Given the description of an element on the screen output the (x, y) to click on. 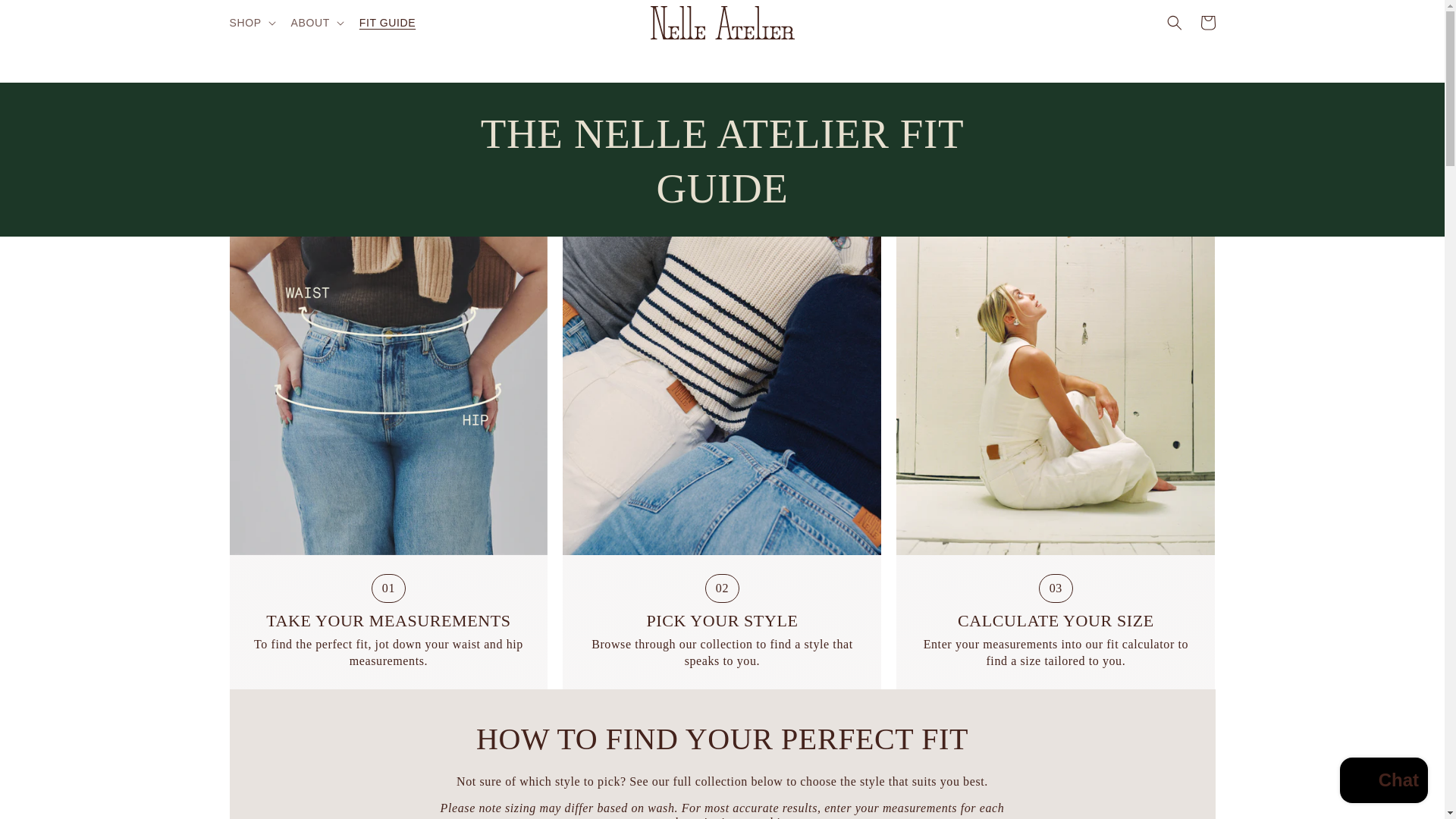
Shopify online store chat (1383, 781)
Cart (1207, 22)
FIT GUIDE (387, 22)
Skip to content (45, 17)
